Given the description of an element on the screen output the (x, y) to click on. 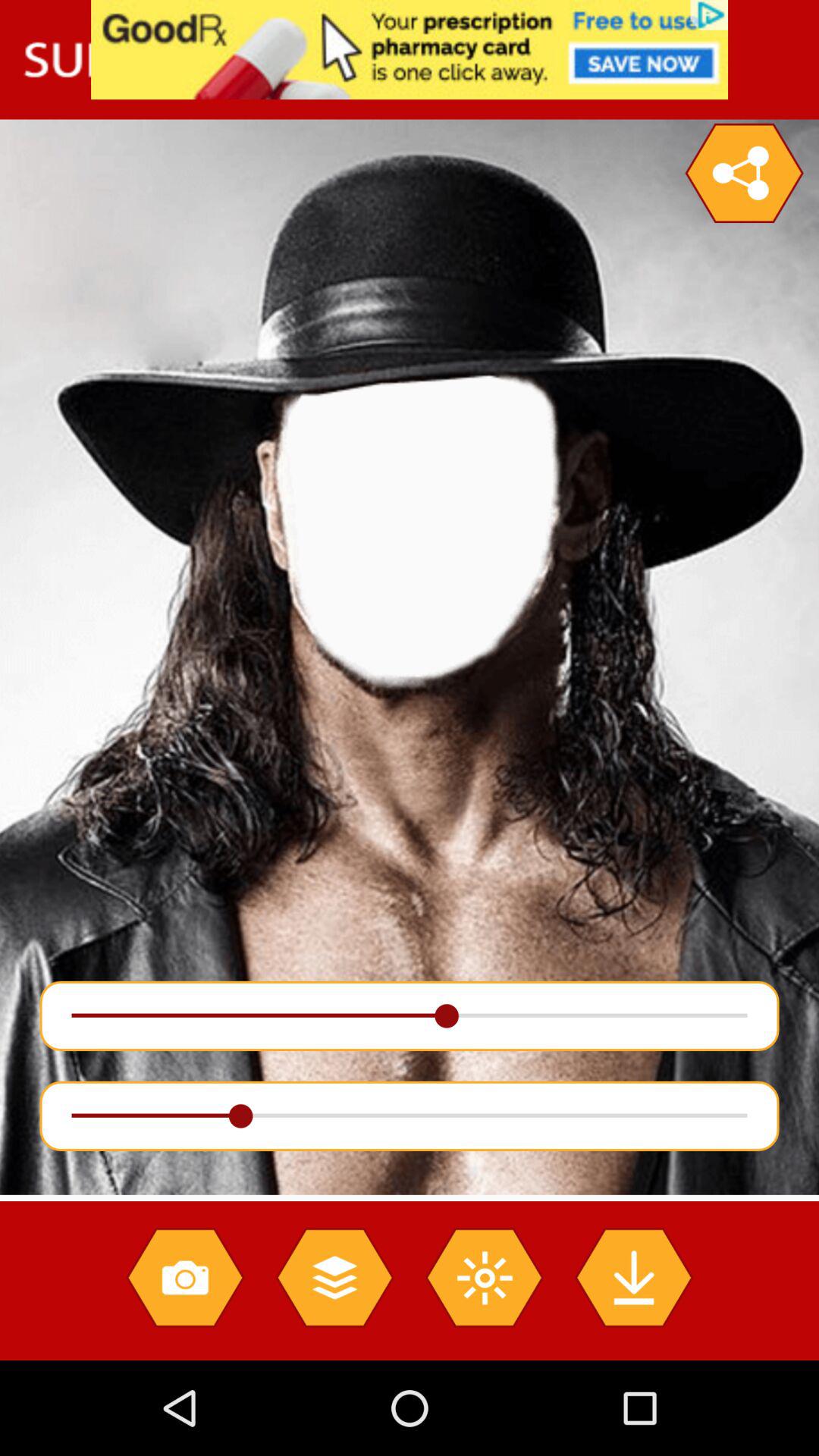
choose layer (334, 1277)
